Given the description of an element on the screen output the (x, y) to click on. 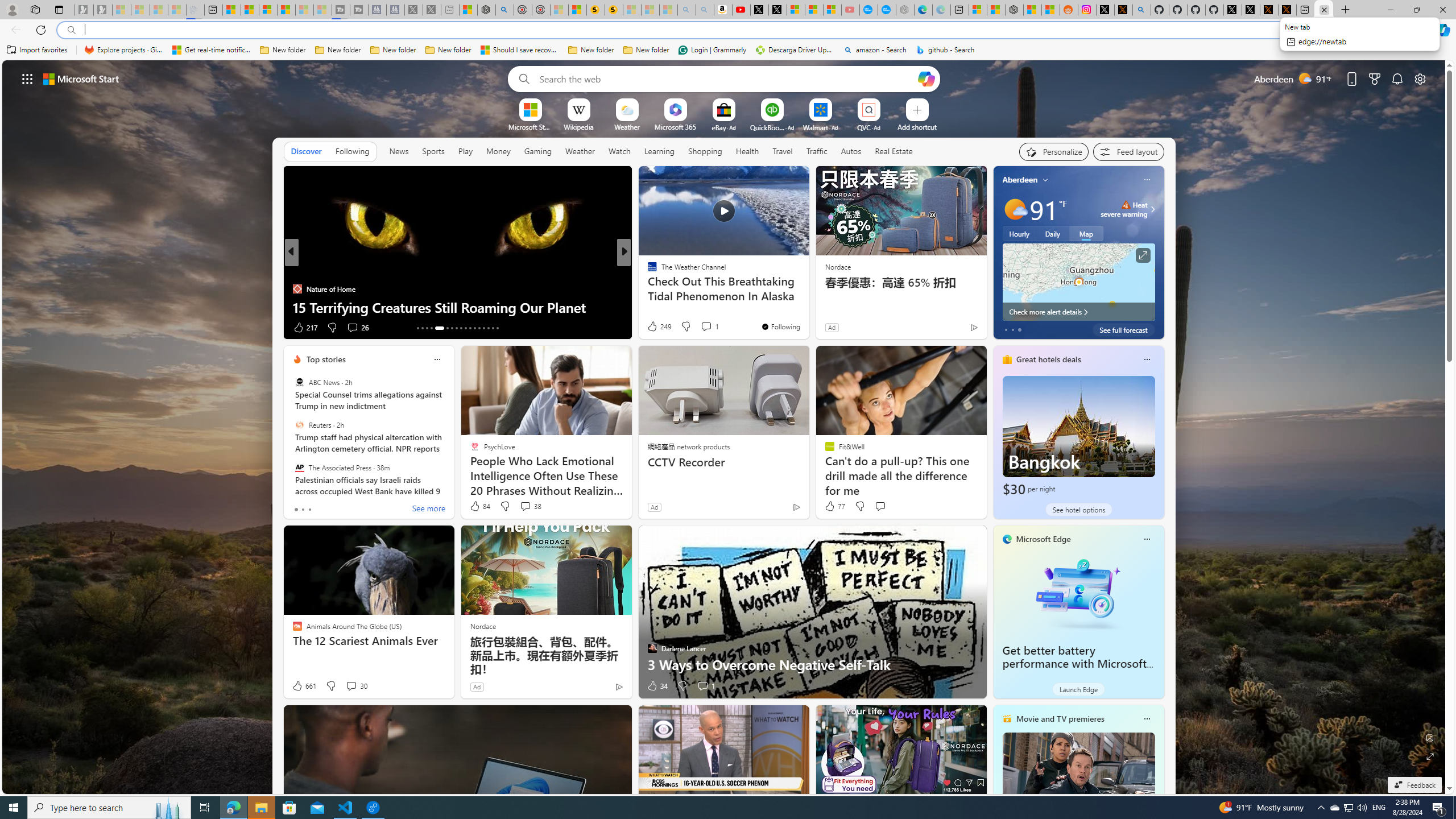
Microsoft Edge (1043, 538)
Check more alert details (1077, 311)
Should I save recovered Word documents? - Microsoft Support (519, 49)
AutomationID: tab-22 (465, 328)
tab-2 (309, 509)
84 Like (479, 505)
Class: control (27, 78)
